Given the description of an element on the screen output the (x, y) to click on. 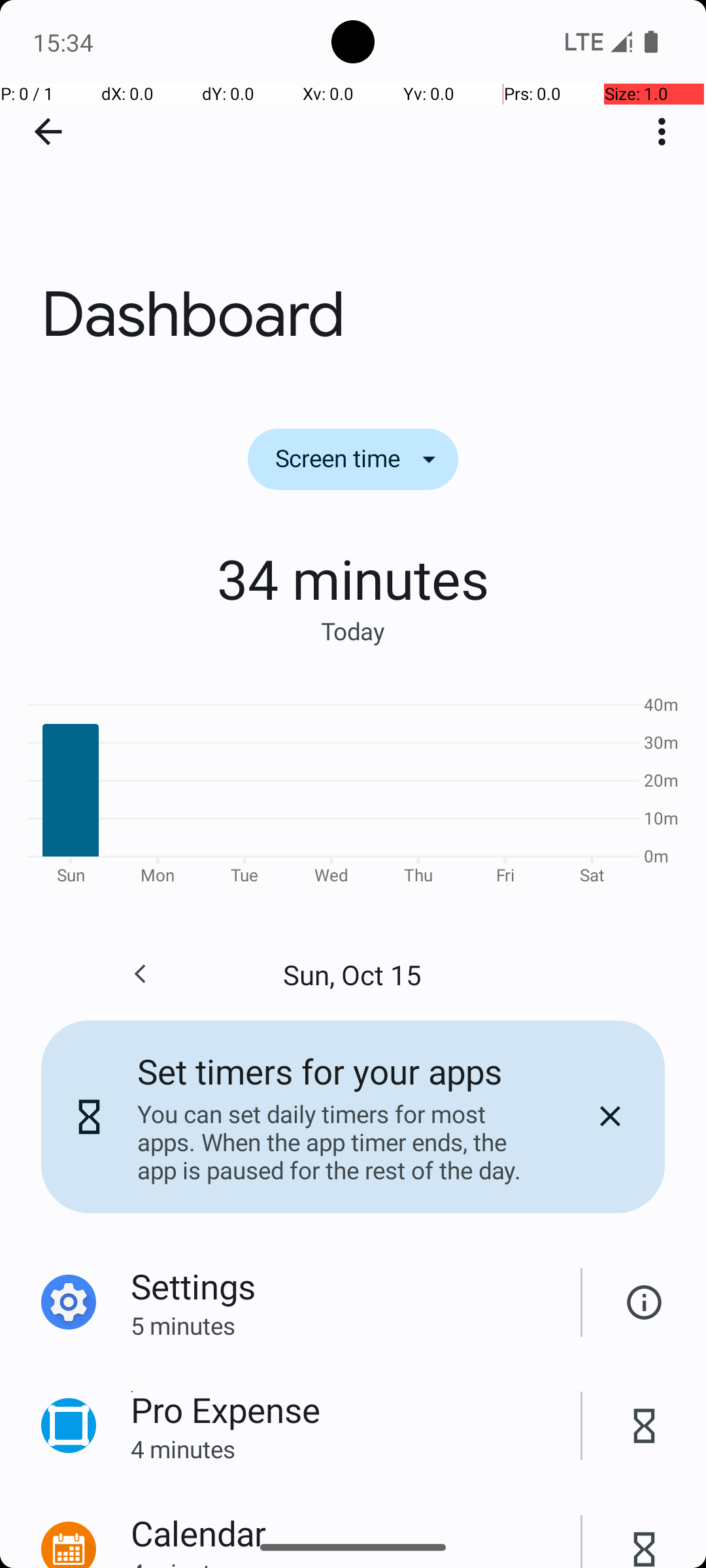
Dashboard Element type: android.widget.FrameLayout (353, 195)
34 minutes Element type: android.widget.TextView (353, 577)
Set timers for your apps Element type: android.widget.TextView (319, 1070)
You can set daily timers for most apps. When the app timer ends, the app is paused for the rest of the day. Element type: android.widget.TextView (339, 1141)
Dismiss card Element type: android.widget.Button (609, 1116)
5 minutes Element type: android.widget.TextView (355, 1325)
Can't set timer Element type: android.widget.FrameLayout (644, 1302)
4 minutes Element type: android.widget.TextView (355, 1448)
No timer set for Pro Expense Element type: android.widget.FrameLayout (644, 1425)
No timer set for Calendar Element type: android.widget.FrameLayout (644, 1534)
Bar Chart. Showing Phone usage data with 7 data points. Element type: android.view.ViewGroup (353, 787)
